Given the description of an element on the screen output the (x, y) to click on. 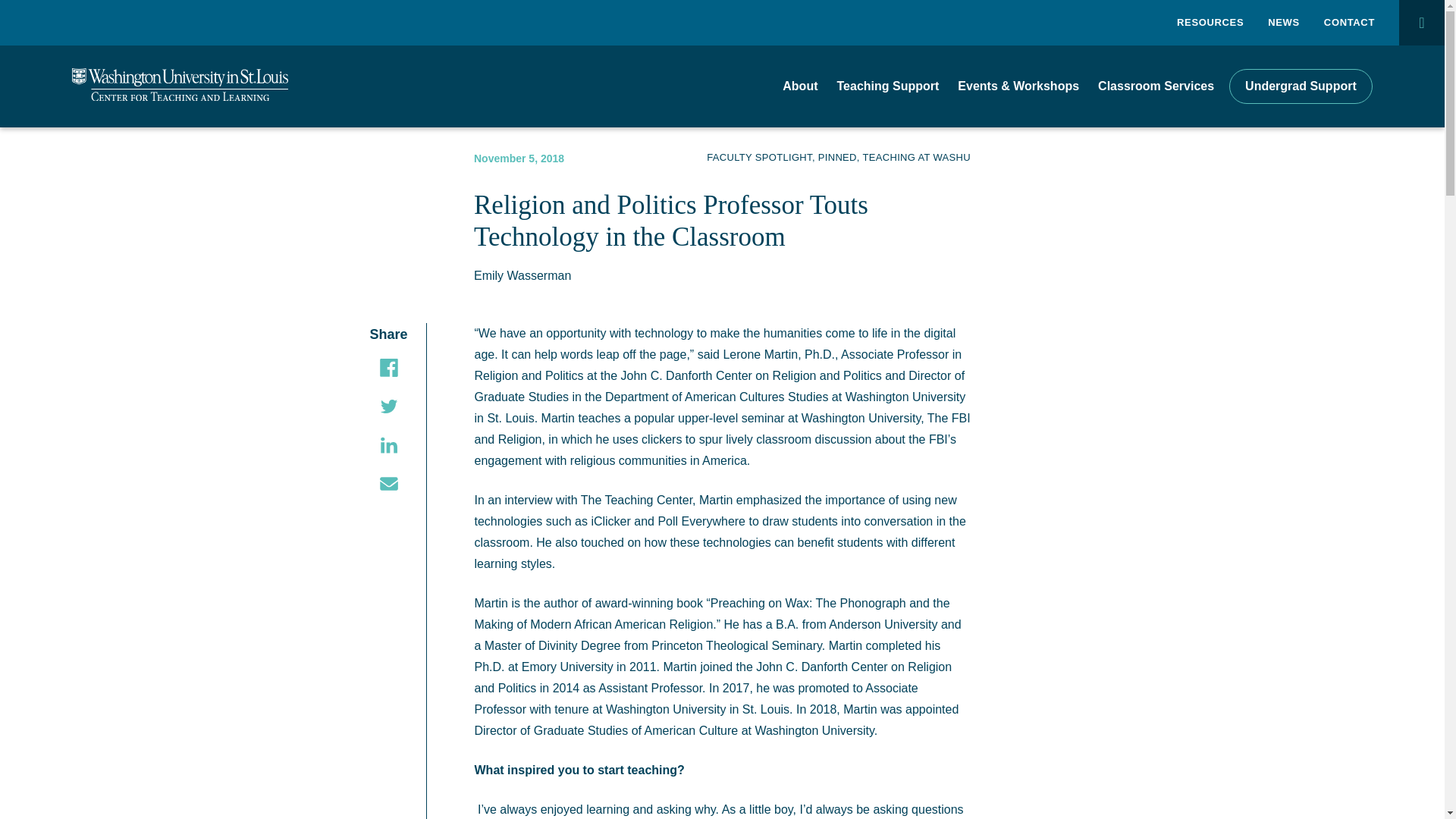
CONTACT (1348, 22)
Classroom Services (1155, 86)
Teaching Support (888, 86)
NEWS (1284, 22)
RESOURCES (1209, 22)
About (799, 86)
